Given the description of an element on the screen output the (x, y) to click on. 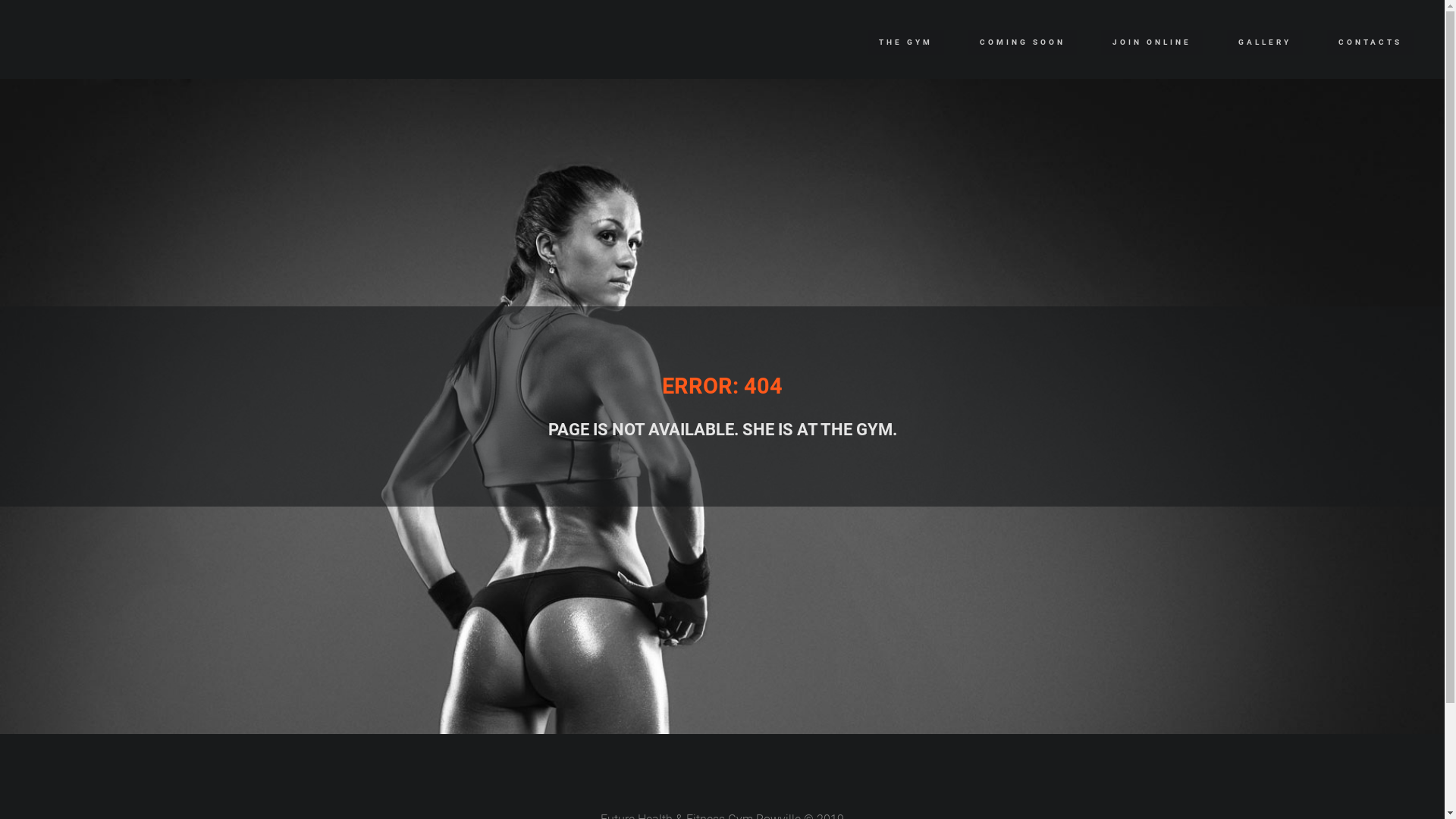
COMING SOON Element type: text (1022, 42)
JOIN ONLINE Element type: text (1151, 42)
CONTACTS Element type: text (1370, 42)
THE GYM Element type: text (905, 42)
GALLERY Element type: text (1264, 42)
